Given the description of an element on the screen output the (x, y) to click on. 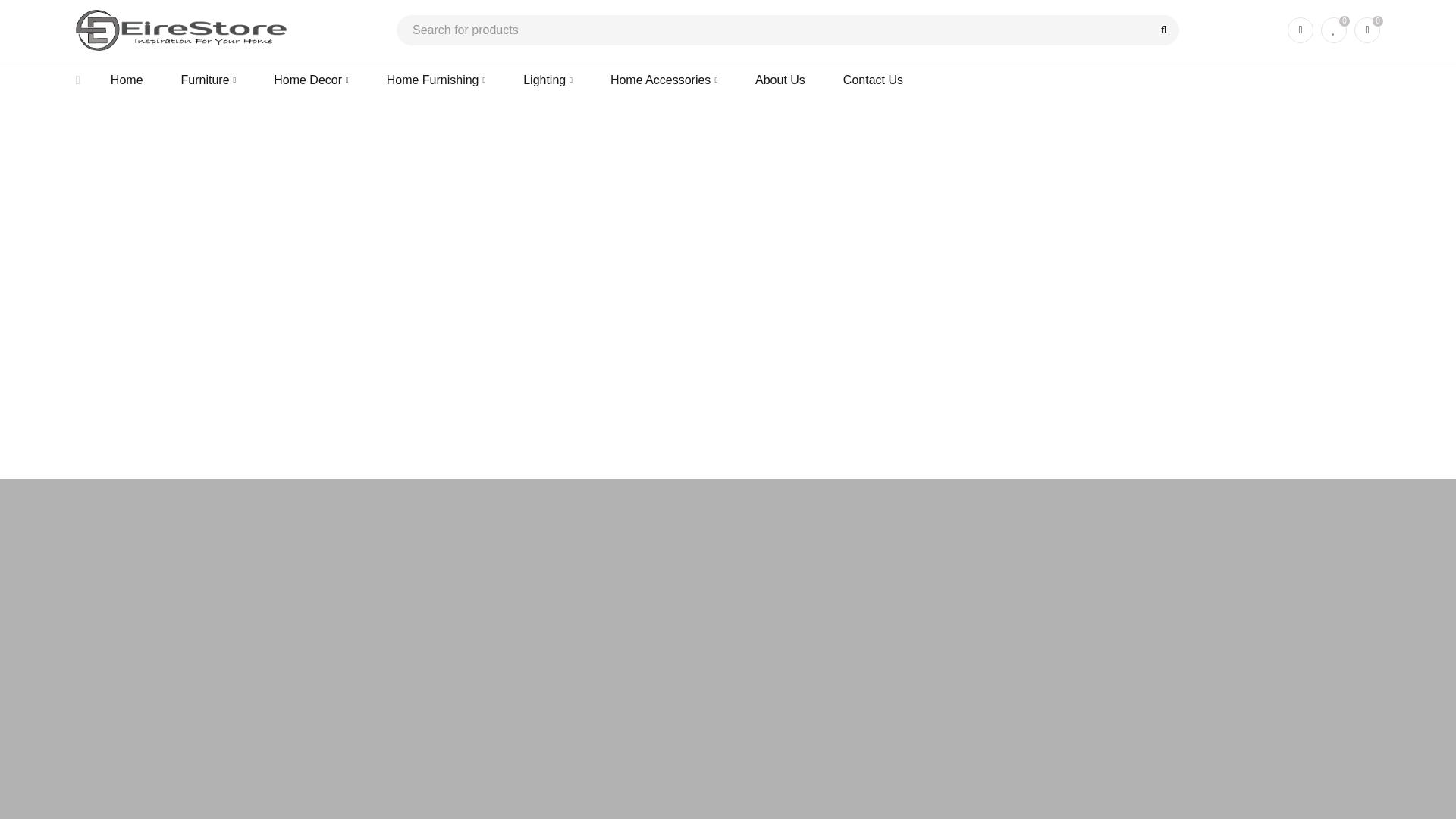
Eireestore (181, 29)
View your shopping cart (1367, 30)
Wishlist (1333, 30)
Search (1163, 30)
Login (1300, 30)
